Given the description of an element on the screen output the (x, y) to click on. 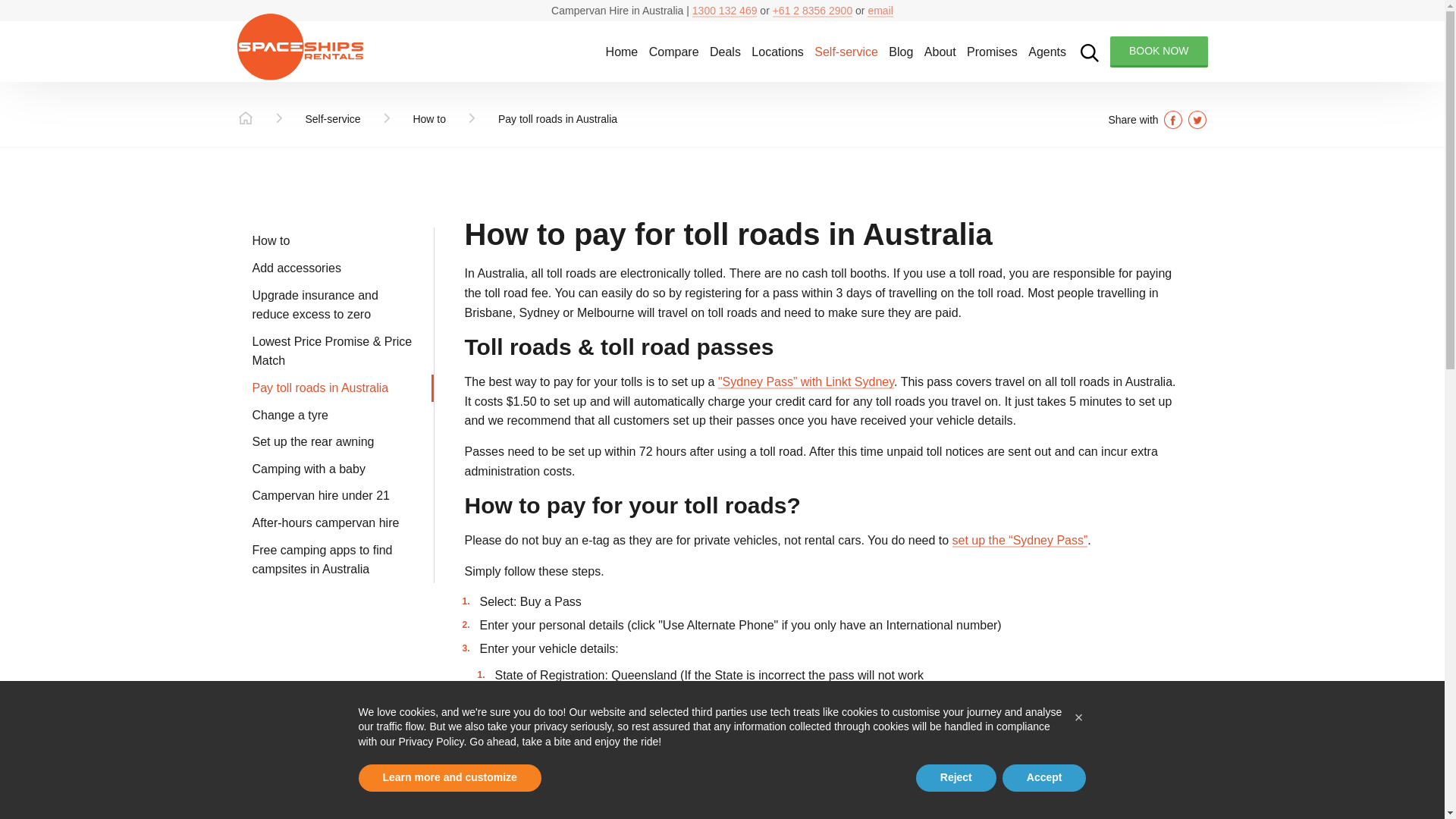
BOOK NOW (1158, 51)
Campervan hire under 21 (334, 495)
Set up the rear awning (334, 441)
Contact the Spaceships Australia team via phone (725, 10)
Camping with a baby (334, 469)
Self-service (332, 118)
Sydney Pass - For one-off or short-term travel around Sydney (1019, 540)
Share with Twitter (1196, 119)
Agents (1047, 51)
Upgrade insurance and reduce excess to zero (334, 304)
